Given the description of an element on the screen output the (x, y) to click on. 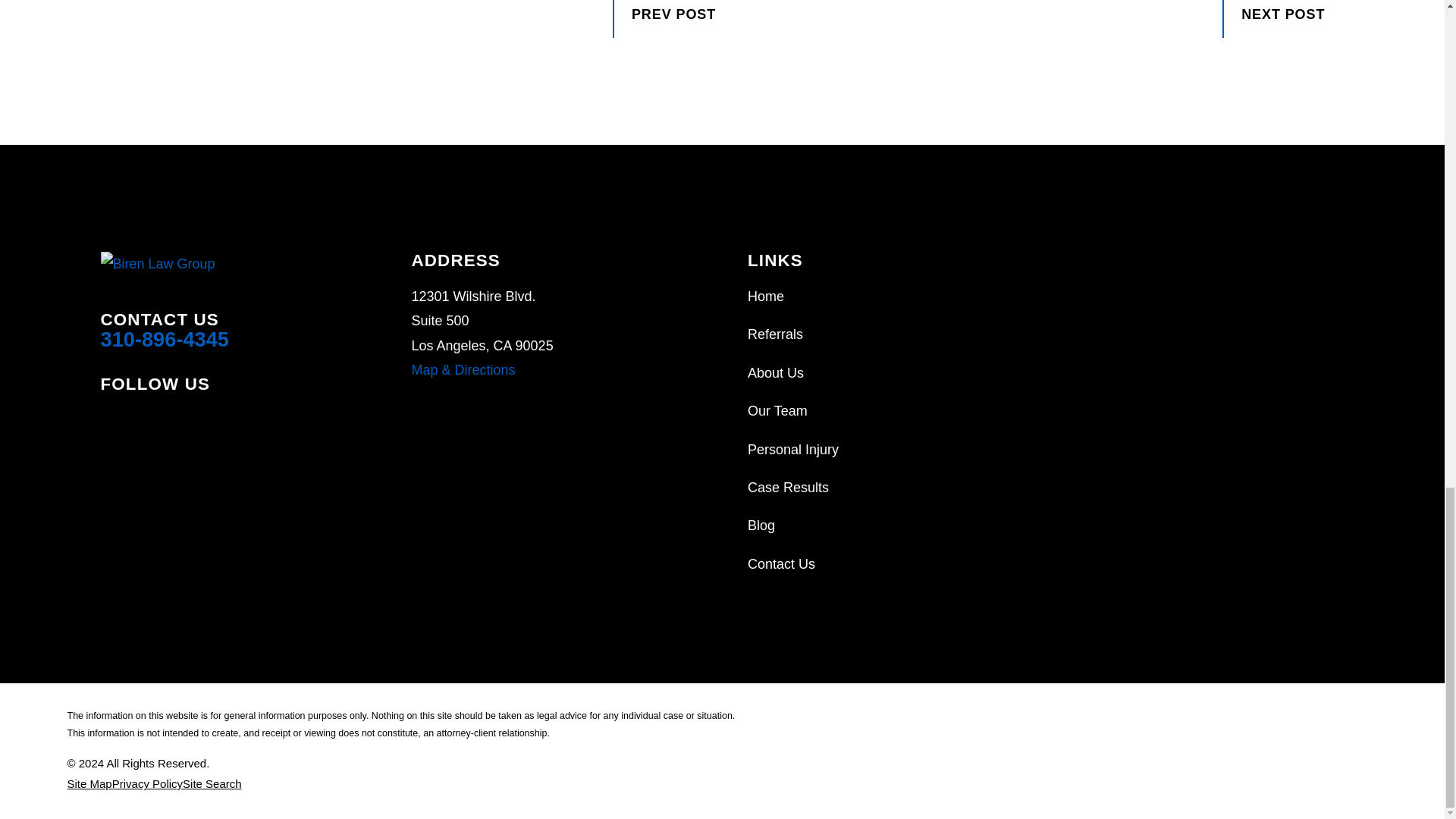
Google Business Profile (148, 416)
YouTube (228, 416)
Facebook (109, 416)
Home (209, 263)
LinkedIn (188, 416)
